Given the description of an element on the screen output the (x, y) to click on. 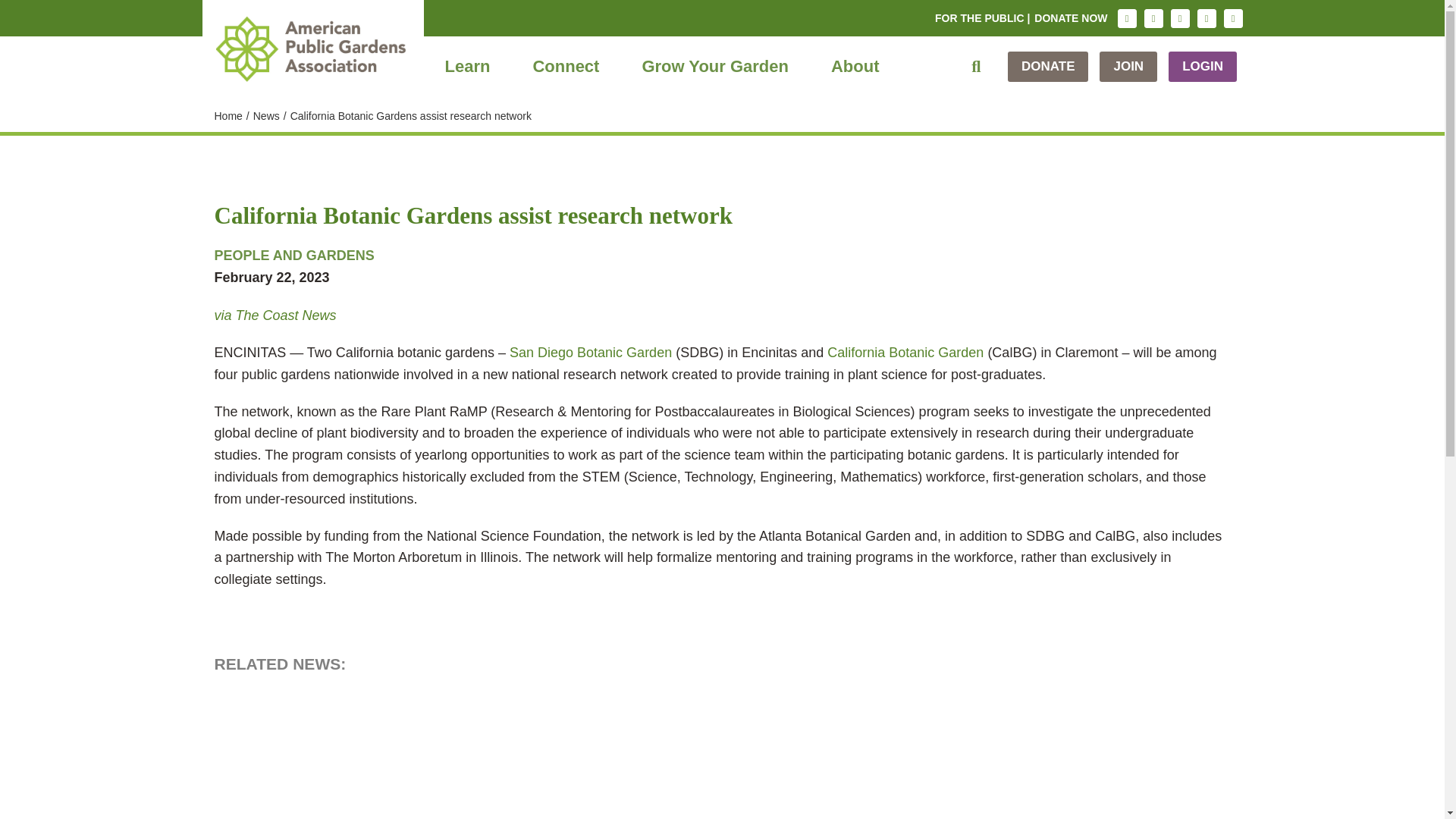
YOUTUBE (1233, 18)
Instagram (1127, 18)
Twitter (1179, 18)
DONATE NOW (1070, 18)
YouTube (1233, 18)
Grow Your Garden (714, 66)
Learn (466, 66)
Instagram (1127, 18)
Twitter (1179, 18)
Connect (565, 66)
Facebook (1151, 18)
Facebook (1151, 18)
LINKEDIN (1205, 18)
LinkedIn (1205, 18)
